Given the description of an element on the screen output the (x, y) to click on. 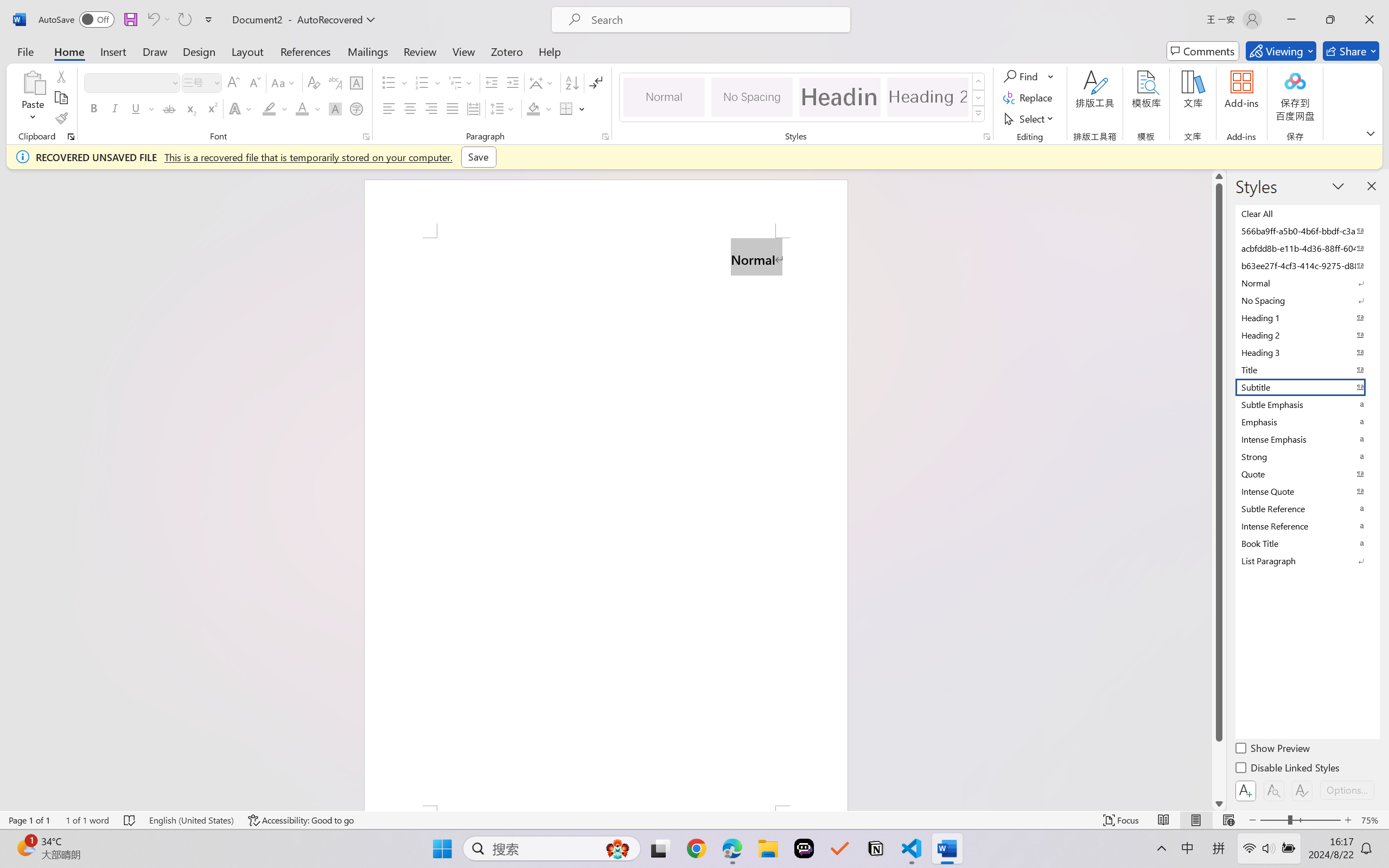
Line up (1219, 176)
Strikethrough (169, 108)
Heading 3 (1306, 352)
Superscript (210, 108)
Italic (115, 108)
Page 1 content (605, 521)
Character Border (356, 82)
Page down (1219, 768)
Row up (978, 81)
Shading RGB(0, 0, 0) (533, 108)
